Given the description of an element on the screen output the (x, y) to click on. 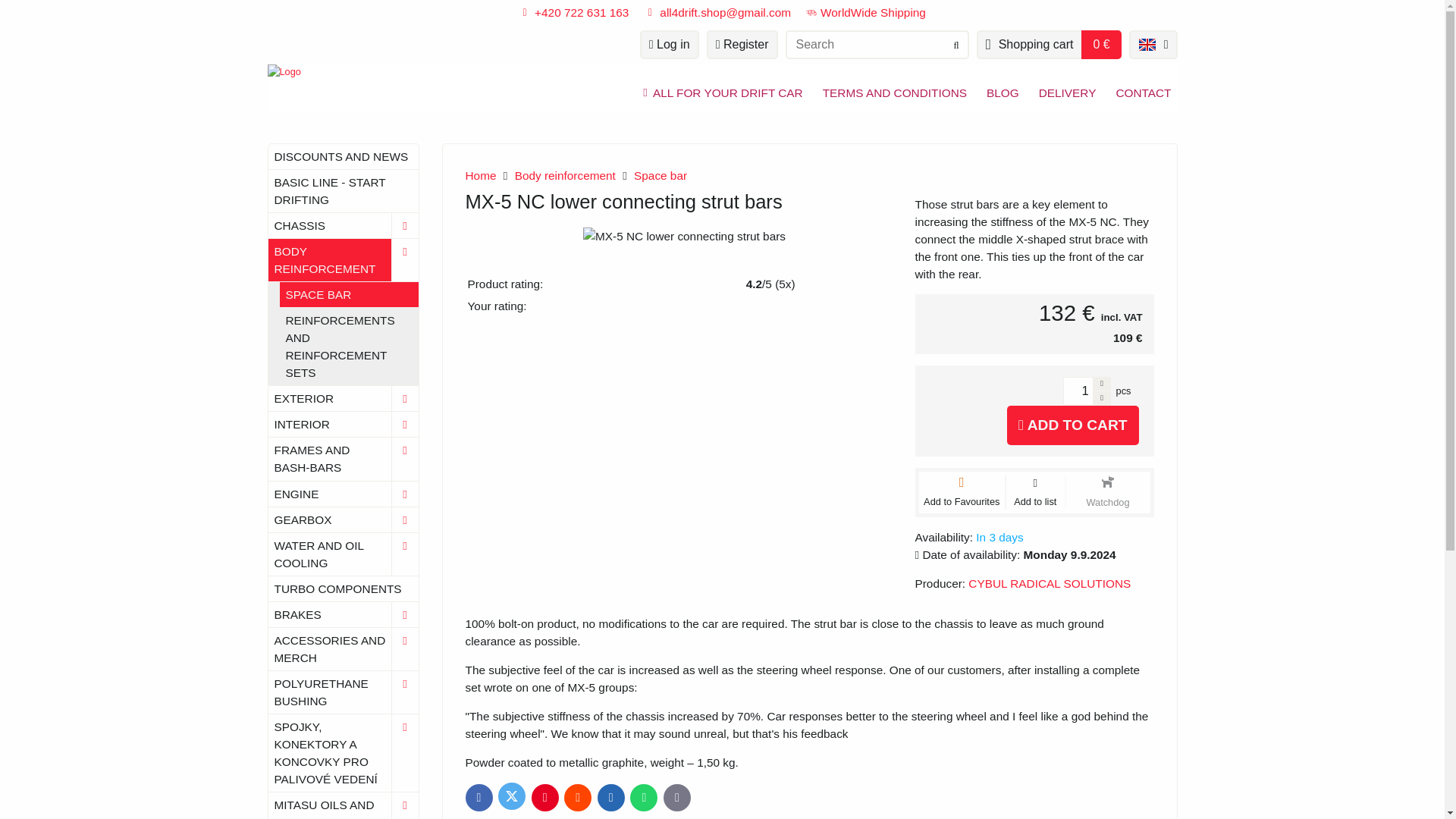
MX-5 NC lower connecting strut bars (684, 235)
WorldWide Shipping (866, 12)
Log in (669, 44)
Order deadline: 3.9.2024 23:59.00 (1014, 562)
Register (741, 44)
1 (1077, 390)
